Given the description of an element on the screen output the (x, y) to click on. 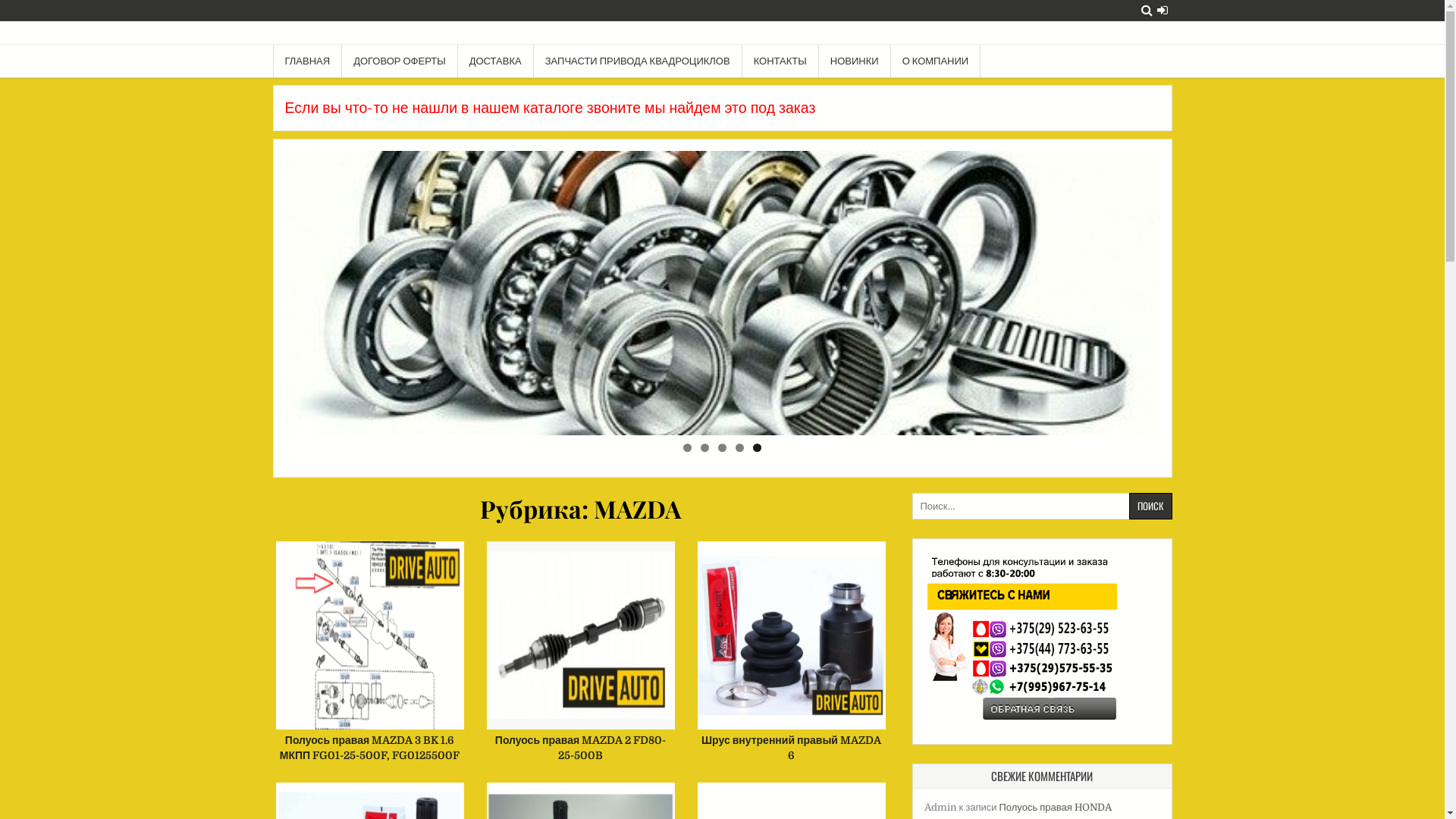
3 Element type: text (722, 447)
Login / Register Element type: hover (1162, 9)
2 Element type: text (704, 447)
5 Element type: text (757, 447)
7c01e7dd1b6771932a7f54ee45a501b8 Element type: hover (722, 292)
4 Element type: text (739, 447)
1 Element type: text (687, 447)
